Given the description of an element on the screen output the (x, y) to click on. 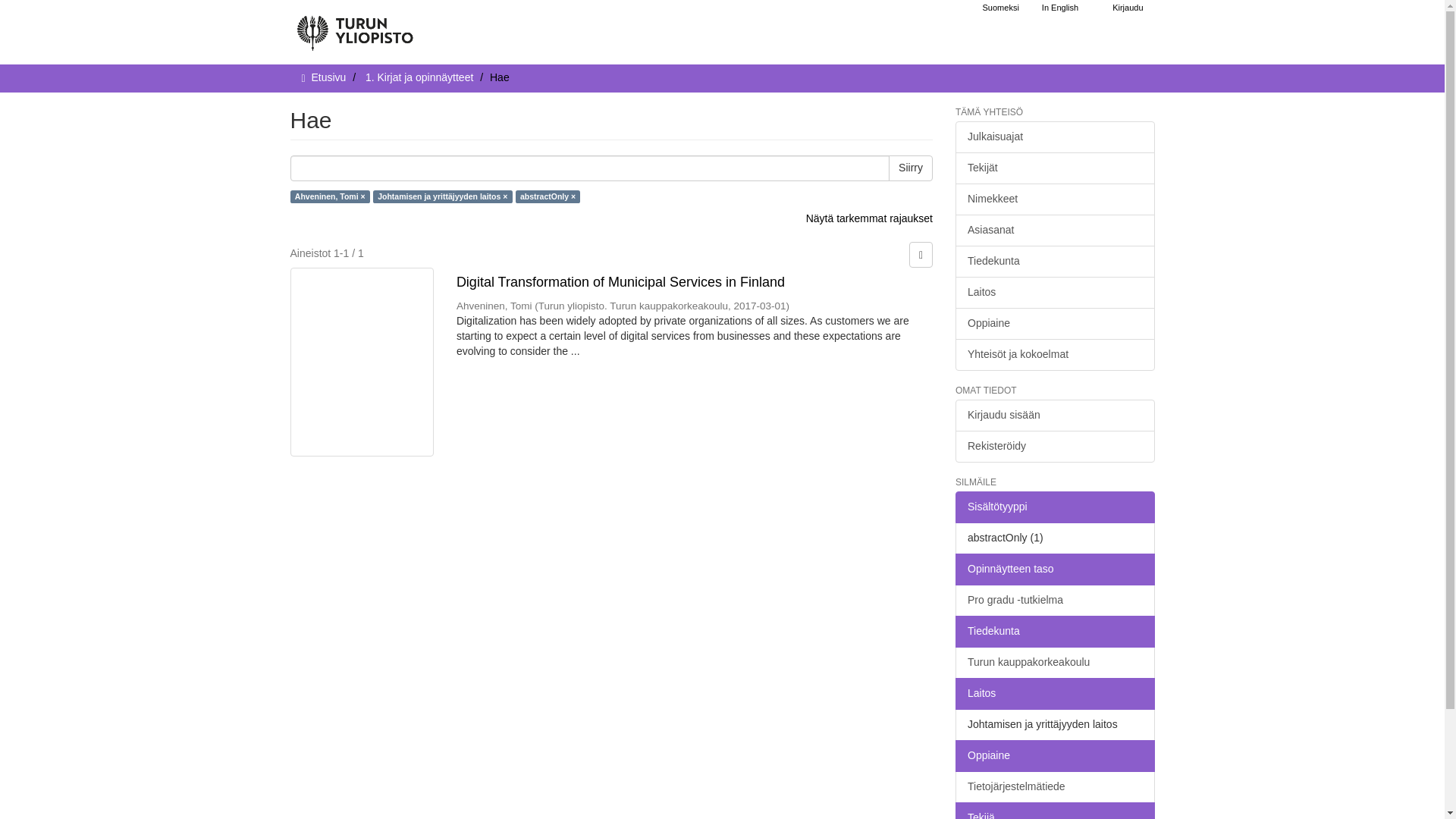
Suomeksi (1000, 7)
Kirjaudu (1127, 7)
In English (1059, 7)
Etusivu (328, 77)
Siirry (910, 167)
